Given the description of an element on the screen output the (x, y) to click on. 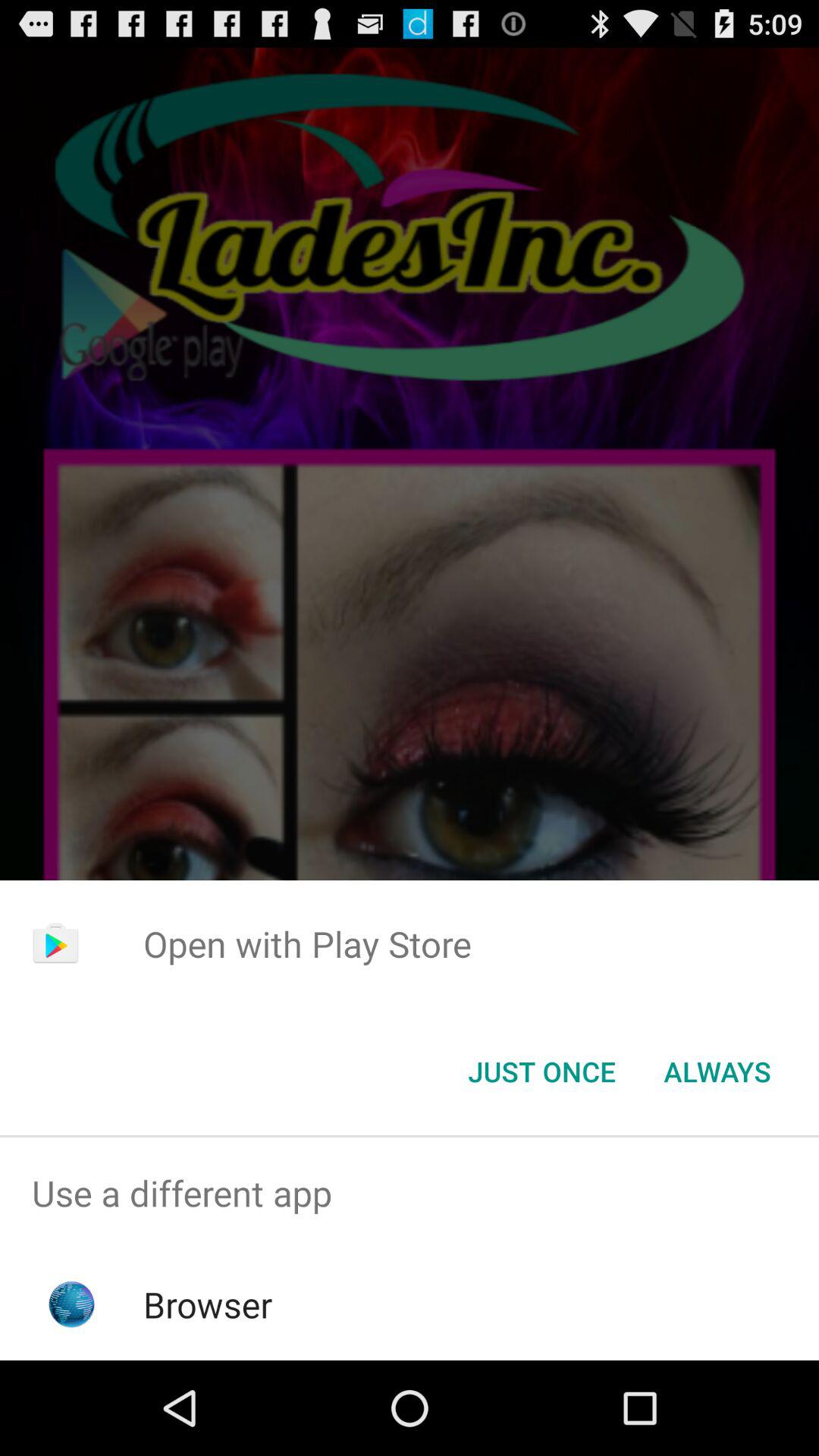
select always item (717, 1071)
